Given the description of an element on the screen output the (x, y) to click on. 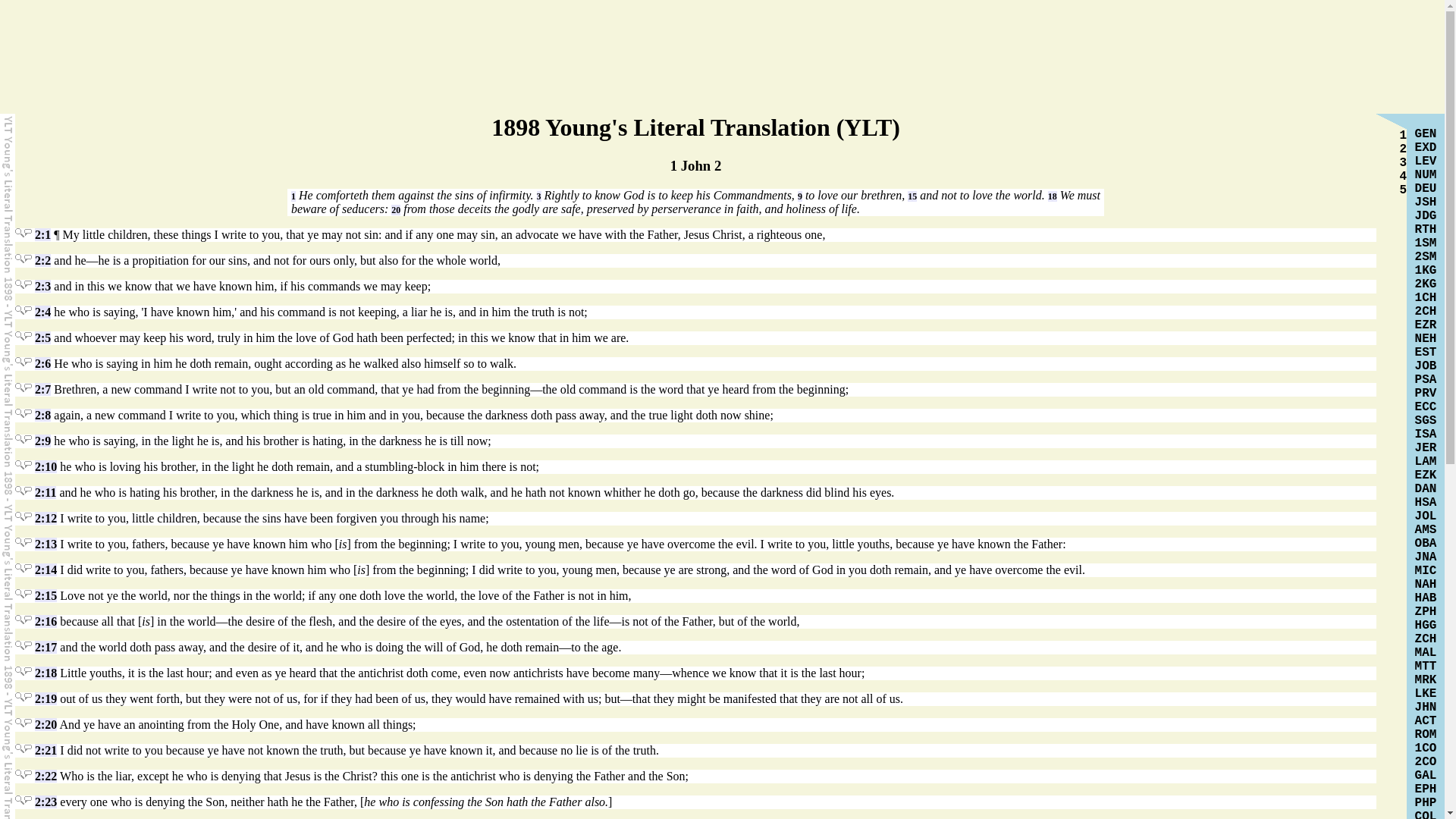
1 (293, 195)
2:11 (45, 492)
20 (395, 209)
2:9 (42, 440)
Go To Verse 20 (395, 209)
9 (799, 195)
Go To Verse 15 (912, 195)
2:2 (42, 259)
2:8 (42, 414)
2:5 (42, 337)
2:3 (42, 286)
3 (539, 195)
2:6 (42, 363)
2:1 (42, 234)
Go To Verse 9 (799, 195)
